Given the description of an element on the screen output the (x, y) to click on. 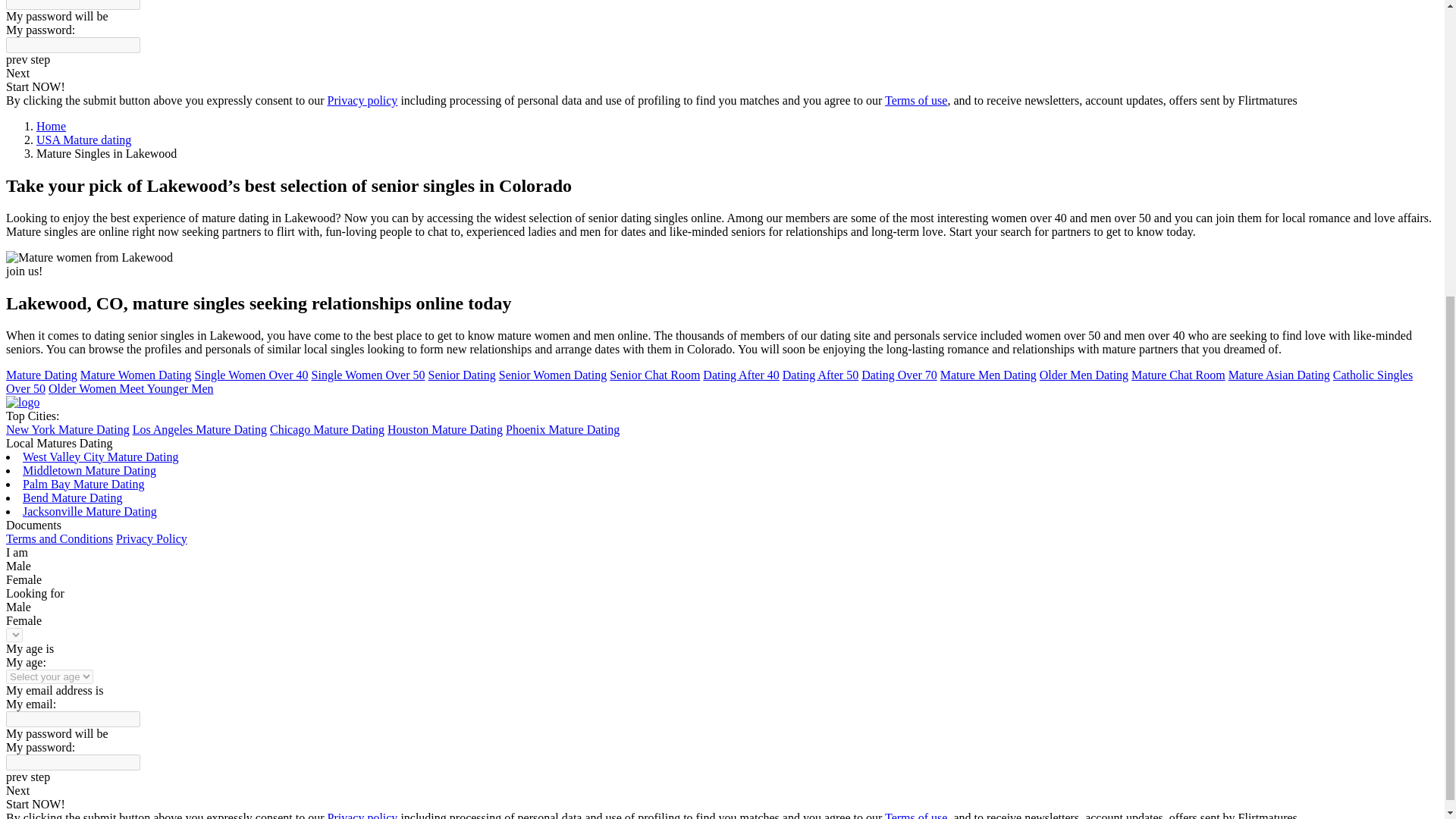
USA Mature dating (83, 139)
Jacksonville Mature Dating (90, 510)
Mature Asian Dating (1279, 373)
Mature Women Dating (136, 373)
Chicago Mature Dating (326, 428)
Privacy policy (362, 100)
Catholic Singles Over 50 (708, 380)
Dating Over 70 (899, 373)
Middletown Mature Dating (89, 469)
Mature Dating (41, 373)
Single Women Over 40 (251, 373)
Phoenix Mature Dating (562, 428)
Mature Men Dating (988, 373)
Terms of use (916, 100)
Single Women Over 50 (368, 373)
